Given the description of an element on the screen output the (x, y) to click on. 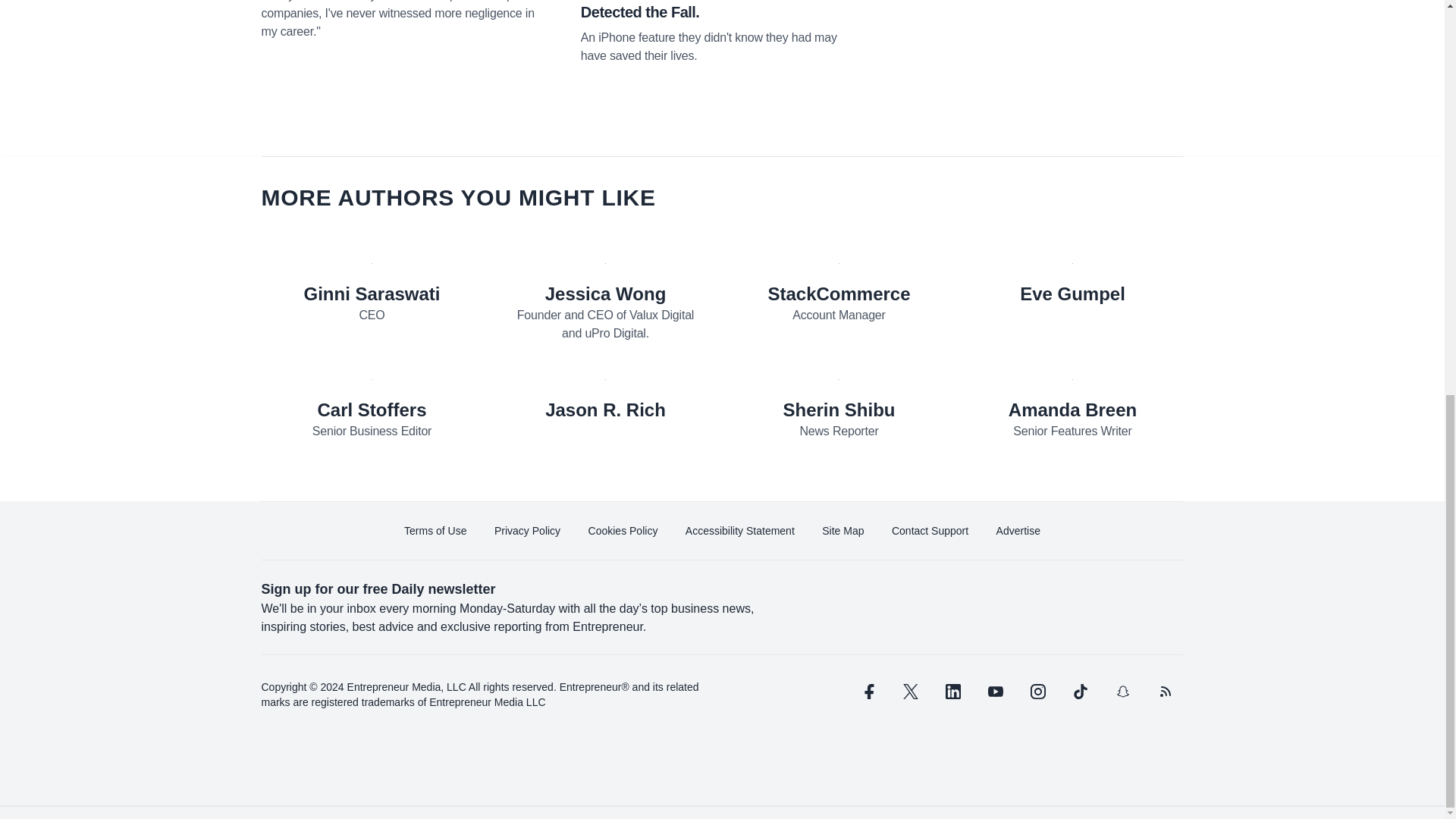
tiktok (1079, 691)
instagram (1037, 691)
snapchat (1121, 691)
rss (1164, 691)
twitter (909, 691)
facebook (866, 691)
youtube (994, 691)
linkedin (952, 691)
